Given the description of an element on the screen output the (x, y) to click on. 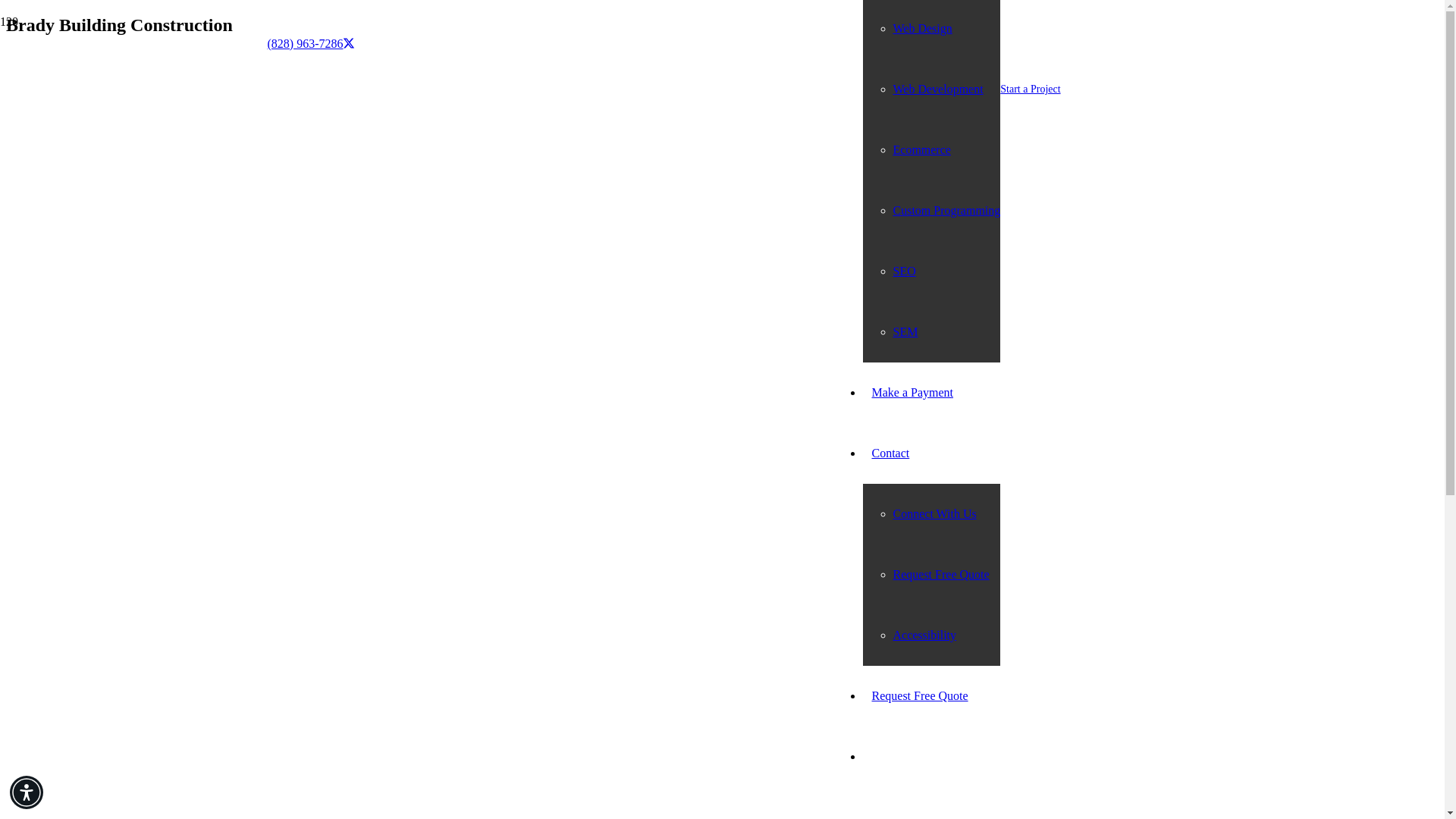
Request Free Quote (919, 695)
Web Development (938, 88)
Make a Payment (912, 391)
Ecommerce (921, 149)
Web Design (922, 28)
Accessibility (924, 634)
Contact (890, 452)
Twitter (348, 42)
SEO (904, 270)
Start a Project (1029, 89)
Custom Programming (947, 210)
Connect With Us (934, 513)
Request Free Quote (941, 574)
Accessibility Menu (26, 792)
SEM (905, 331)
